Given the description of an element on the screen output the (x, y) to click on. 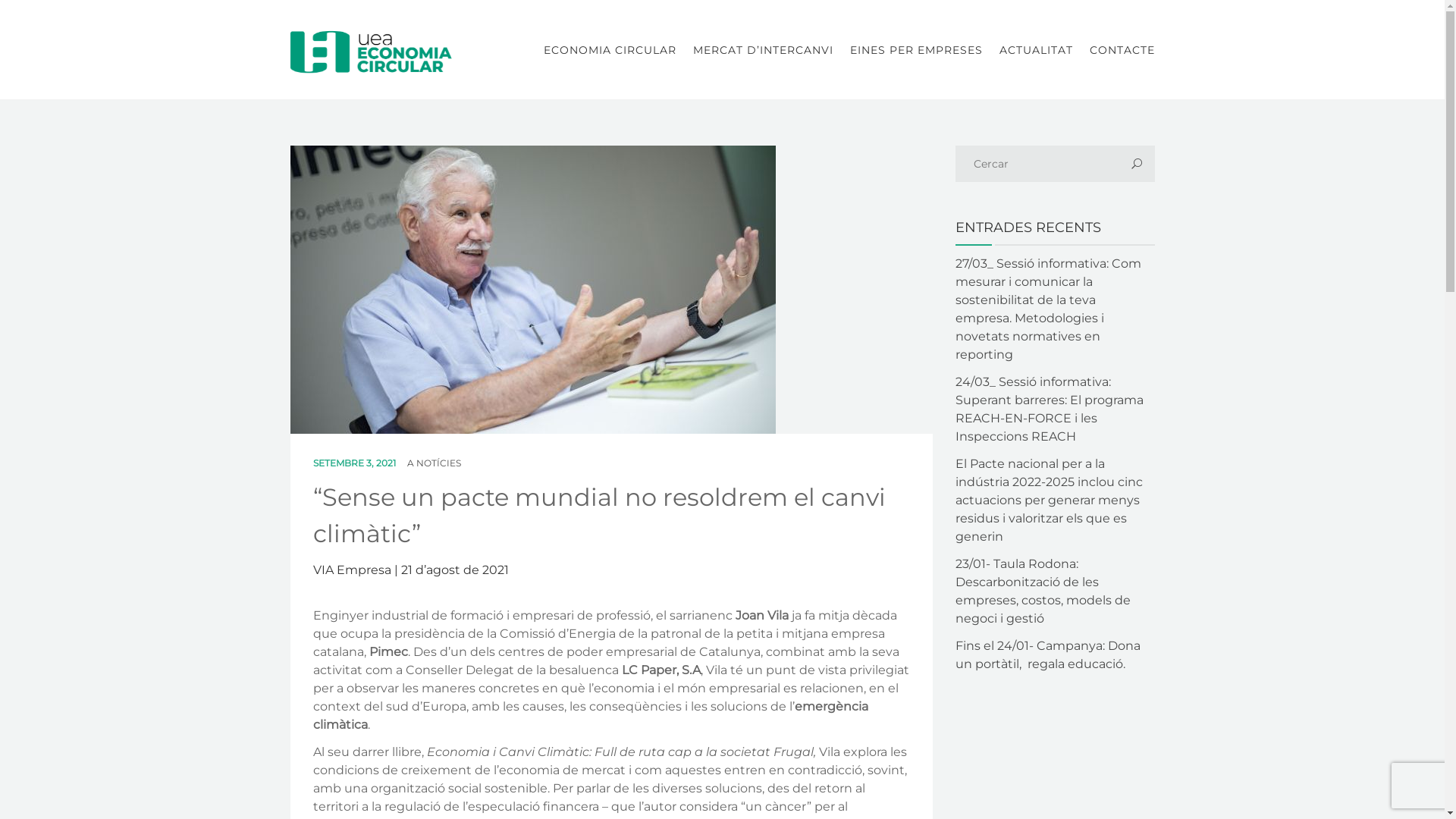
EINES PER EMPRESES Element type: text (916, 50)
CONTACTE Element type: text (1117, 50)
ECONOMIA CIRCULAR Element type: text (609, 50)
ACTUALITAT Element type: text (1035, 50)
